Given the description of an element on the screen output the (x, y) to click on. 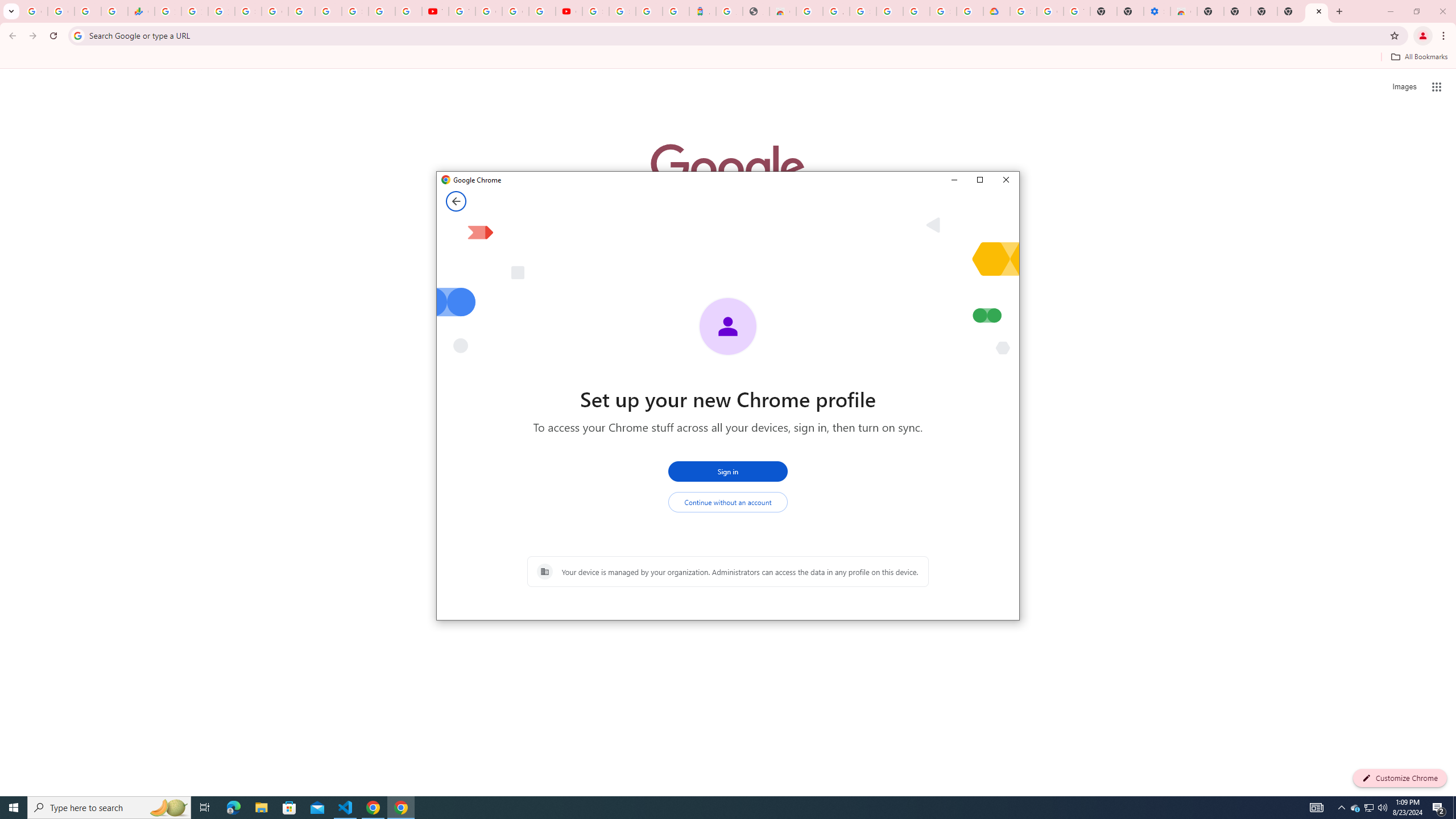
YouTube (435, 11)
Continue without an account (727, 502)
Task View (204, 807)
Action Center, 2 new notifications (1439, 807)
Microsoft Store (289, 807)
Google Workspace Admin Community (34, 11)
Turn cookies on or off - Computer - Google Account Help (1076, 11)
Q2790: 100% (1382, 807)
Sign in - Google Accounts (862, 11)
File Explorer (261, 807)
Google Account Help (488, 11)
Start (13, 807)
Google Chrome - 1 running window (400, 807)
